Given the description of an element on the screen output the (x, y) to click on. 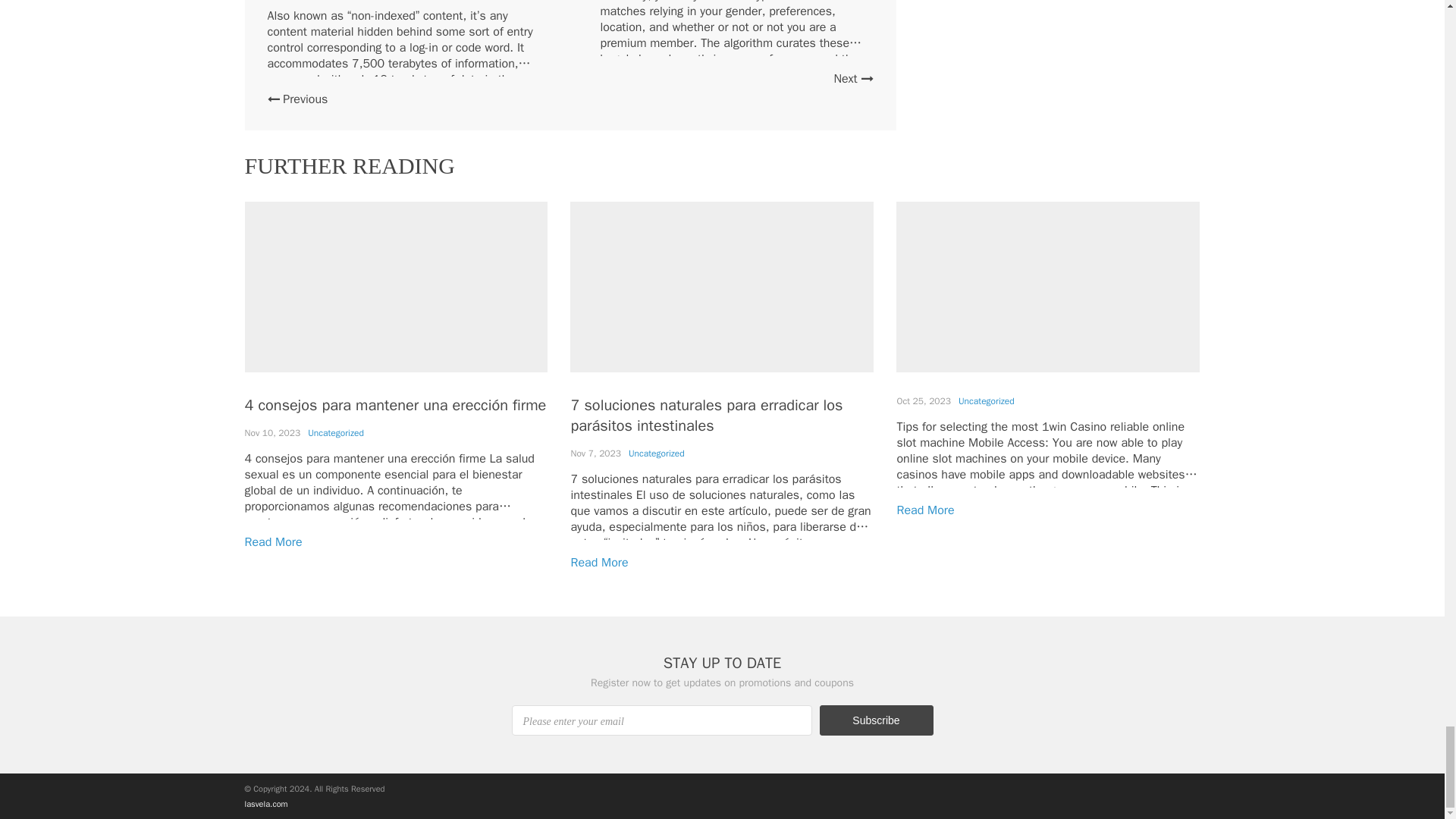
Subscribe (875, 720)
